Given the description of an element on the screen output the (x, y) to click on. 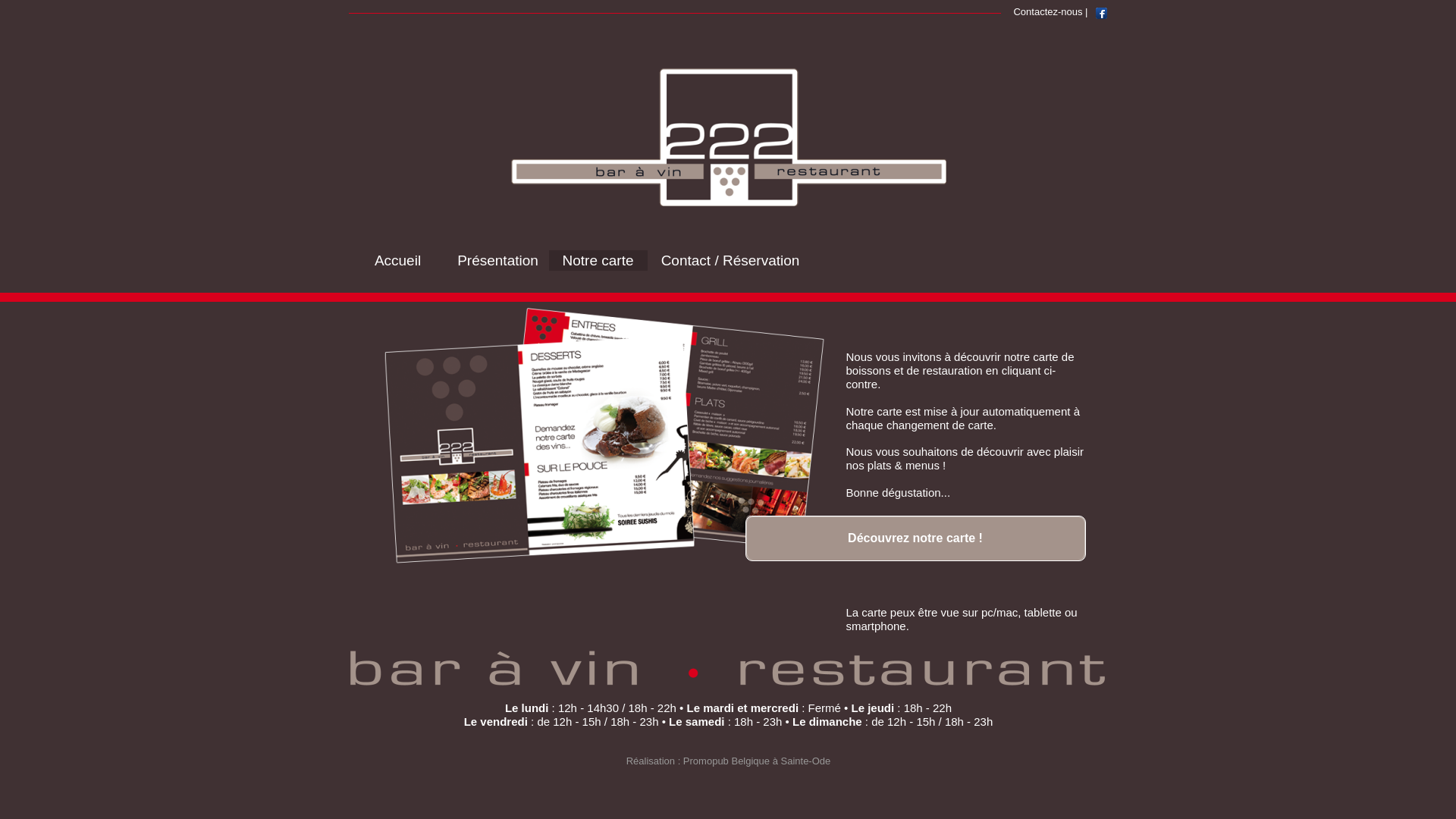
Contactez-nous Element type: text (1047, 10)
Notre carte Element type: text (597, 259)
Accueil Element type: text (397, 260)
  Element type: text (349, 6)
Accueil Element type: text (397, 259)
Groupe Facebook Il Diablo Element type: hover (1100, 12)
Notre carte Element type: text (598, 260)
  Element type: text (349, 774)
